Given the description of an element on the screen output the (x, y) to click on. 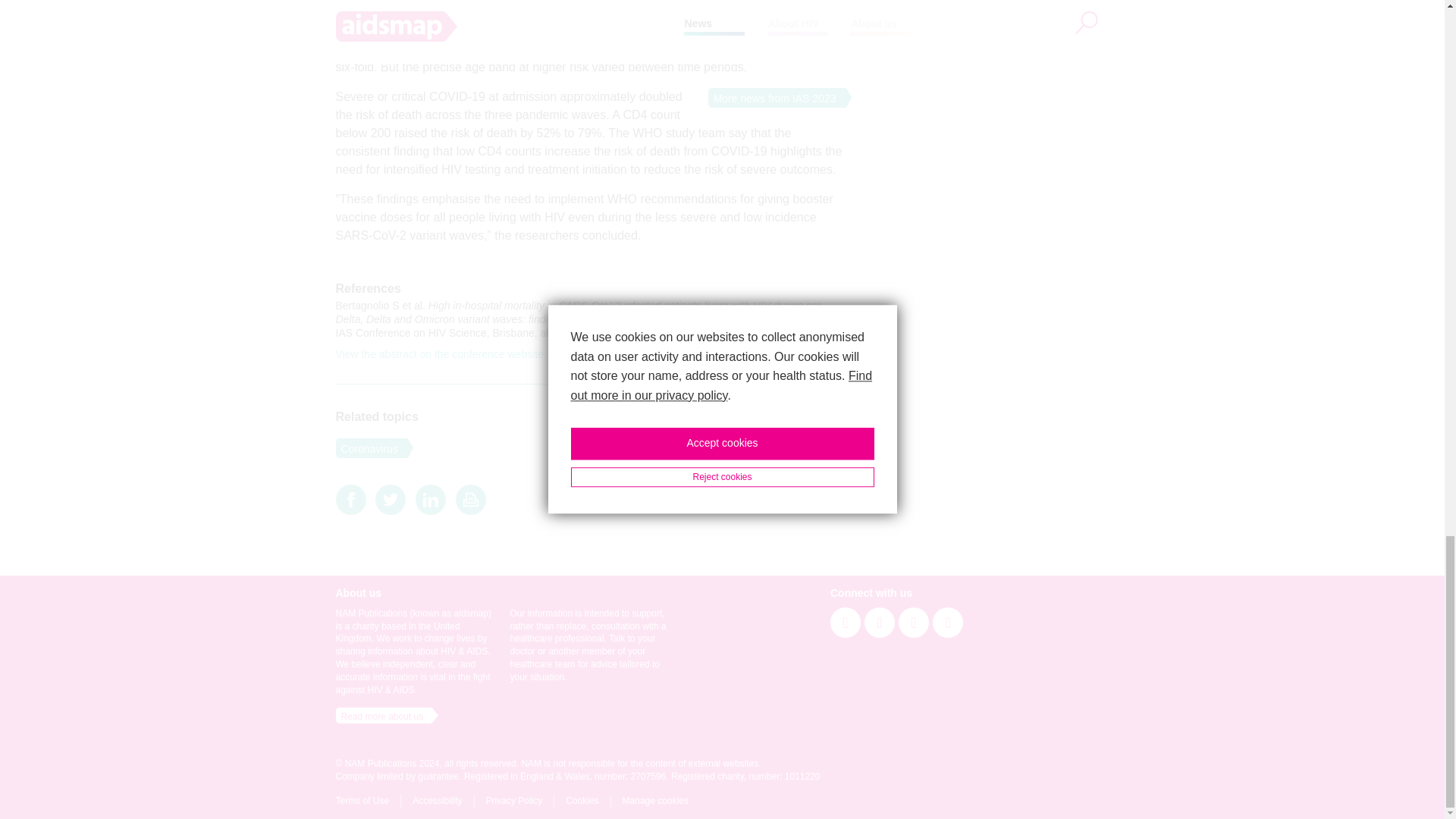
Twitter (390, 499)
Coronavirus (365, 447)
Facebook (349, 499)
Print (470, 499)
View the abstract on the conference website. (440, 354)
LinkedIn (429, 499)
More news from IAS 2023 (771, 97)
